Given the description of an element on the screen output the (x, y) to click on. 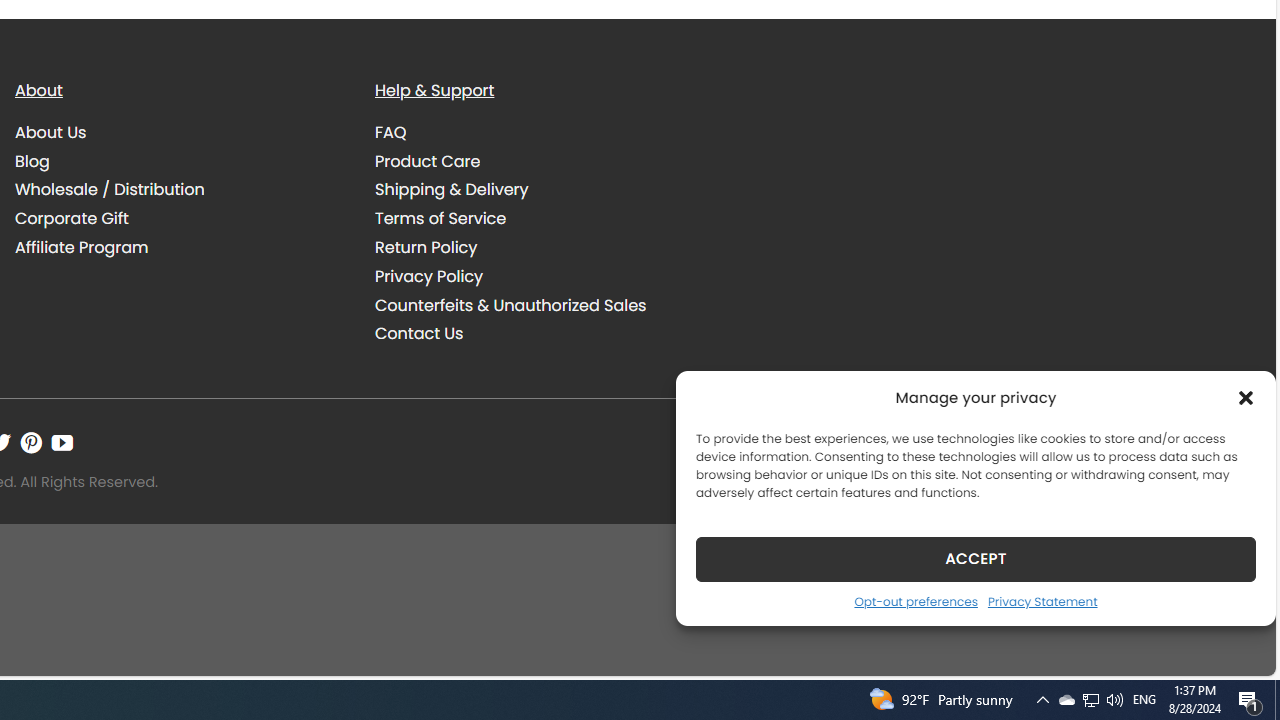
Privacy Statement (1042, 601)
Corporate Gift (72, 219)
Blog (32, 160)
